Given the description of an element on the screen output the (x, y) to click on. 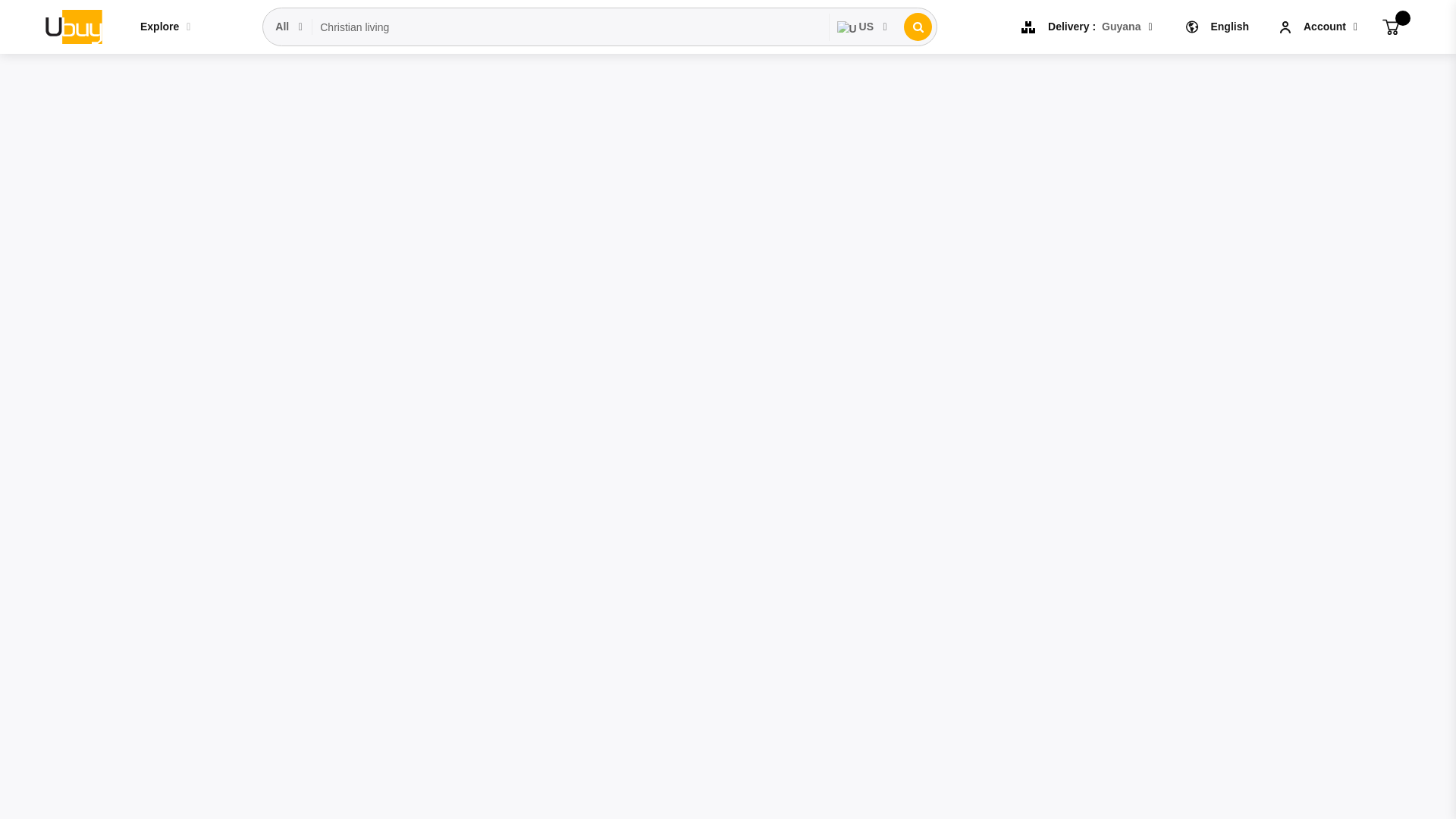
All (289, 26)
Ubuy (73, 26)
Cart (1390, 26)
US (862, 26)
Christian living (570, 26)
Christian living (570, 26)
